Given the description of an element on the screen output the (x, y) to click on. 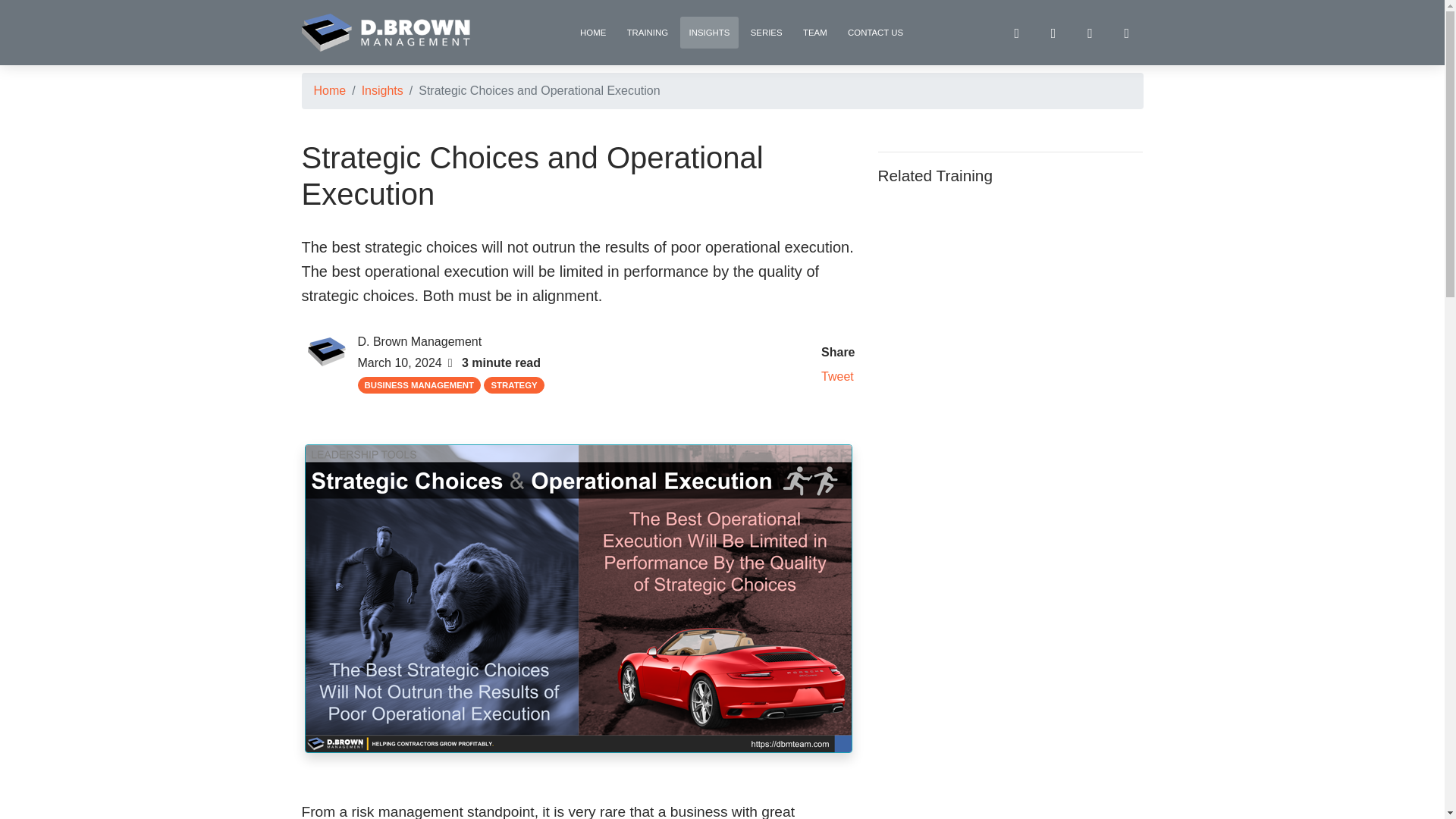
STRATEGY (513, 384)
SERIES (766, 32)
BUSINESS MANAGEMENT (419, 384)
TRAINING (647, 32)
Home (330, 90)
HOME (593, 32)
TEAM (814, 32)
Insights (382, 90)
Tweet (837, 376)
INSIGHTS (708, 32)
